Given the description of an element on the screen output the (x, y) to click on. 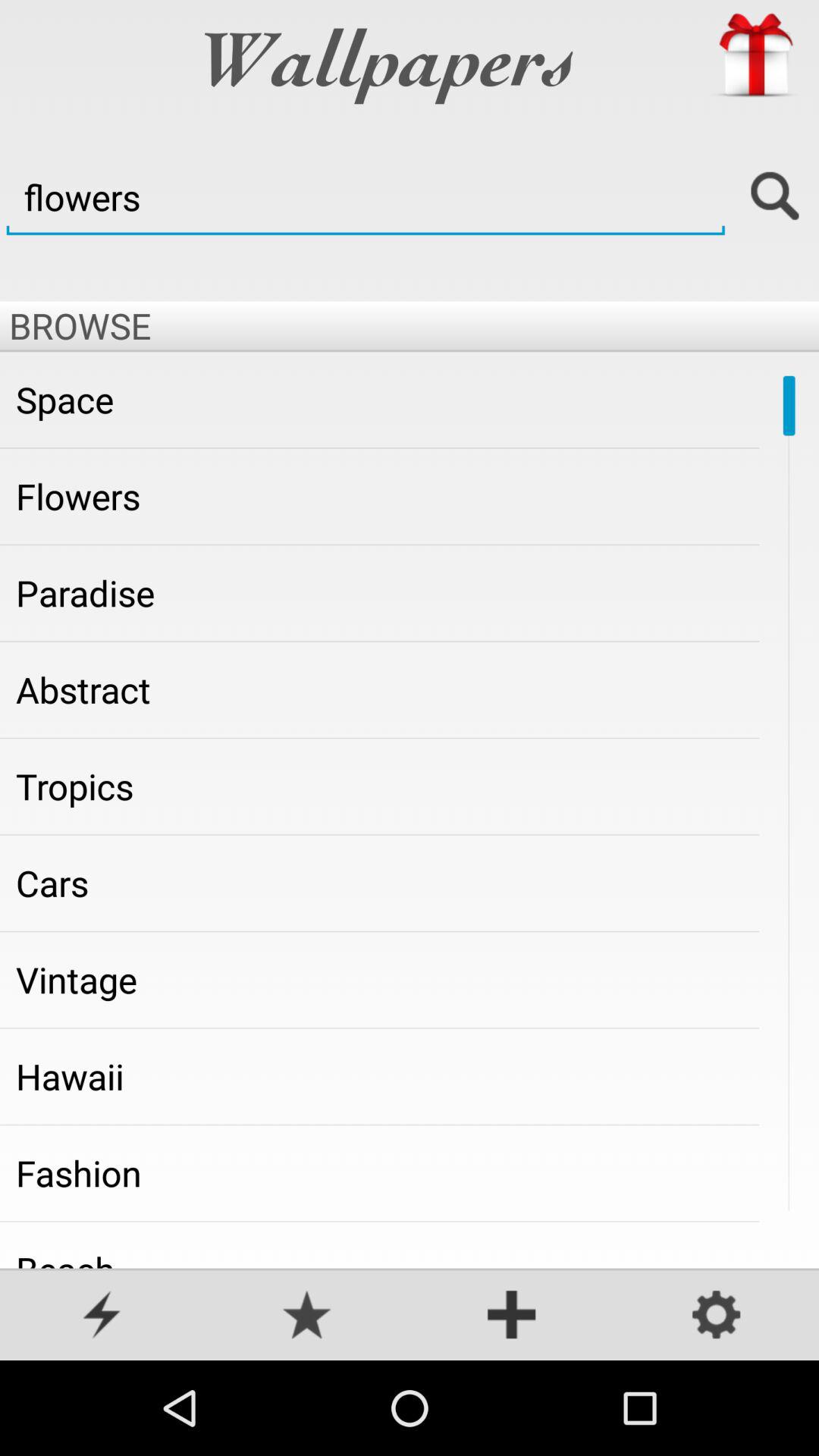
popular or hot wallpapers (102, 1316)
